Given the description of an element on the screen output the (x, y) to click on. 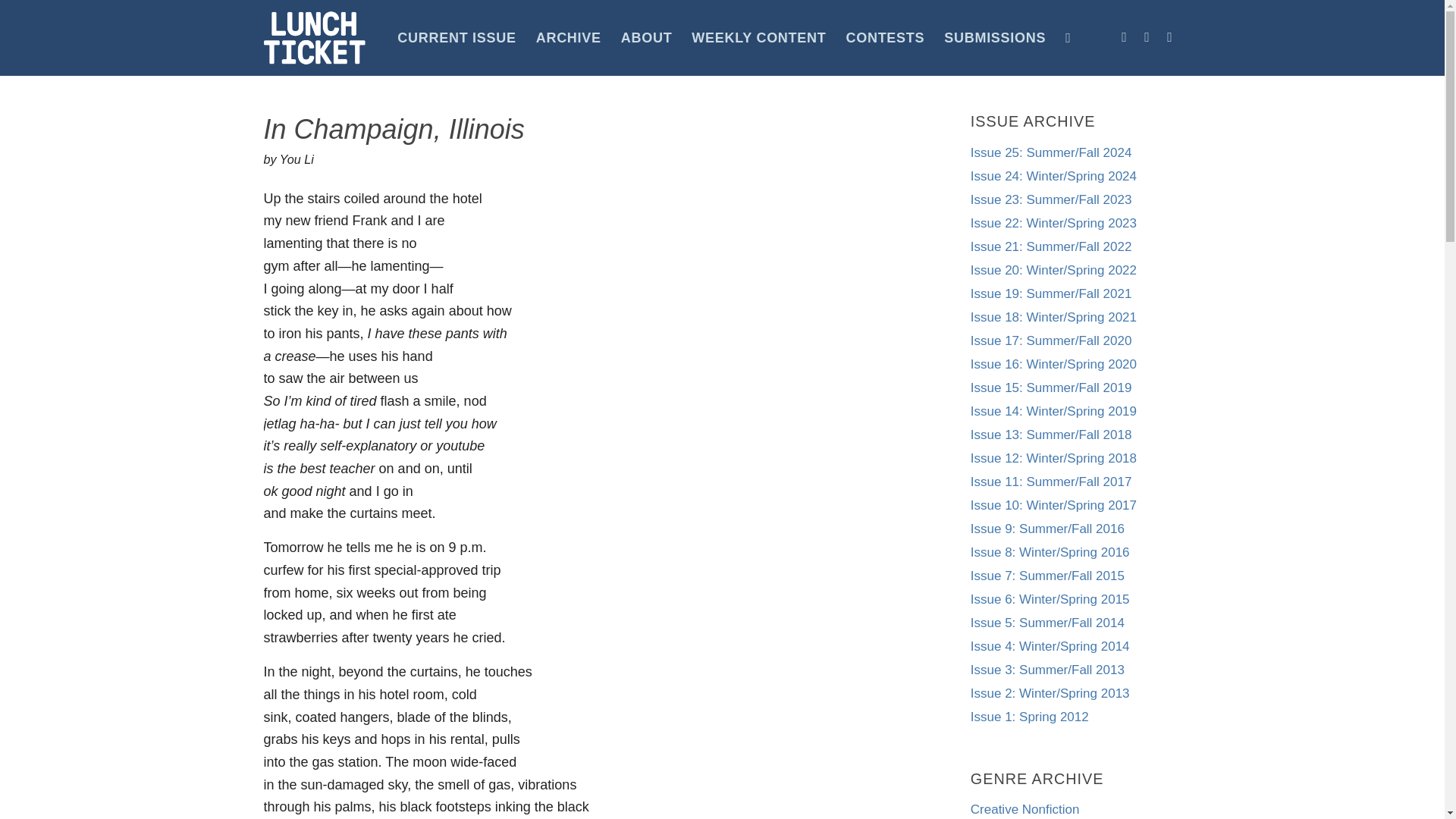
lunch ticket logo white text-only (314, 38)
X (1169, 36)
Instagram (1146, 36)
ARCHIVE (568, 38)
CURRENT ISSUE (456, 38)
Facebook (1124, 36)
